Given the description of an element on the screen output the (x, y) to click on. 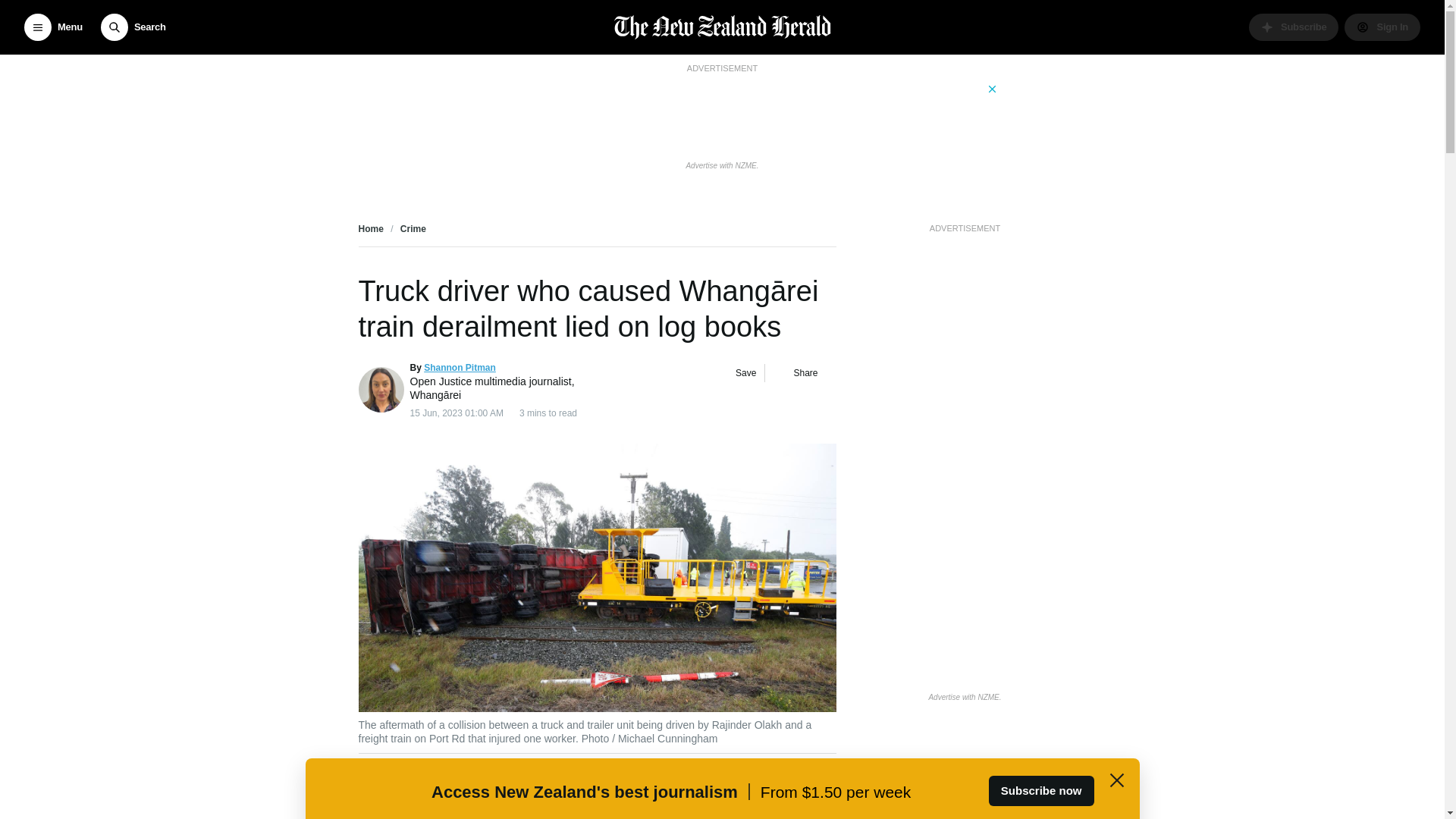
Search (132, 26)
Sign In (1382, 26)
Menu (53, 26)
Manage your account (1382, 26)
Subscribe (1294, 26)
3rd party ad content (721, 115)
